Given the description of an element on the screen output the (x, y) to click on. 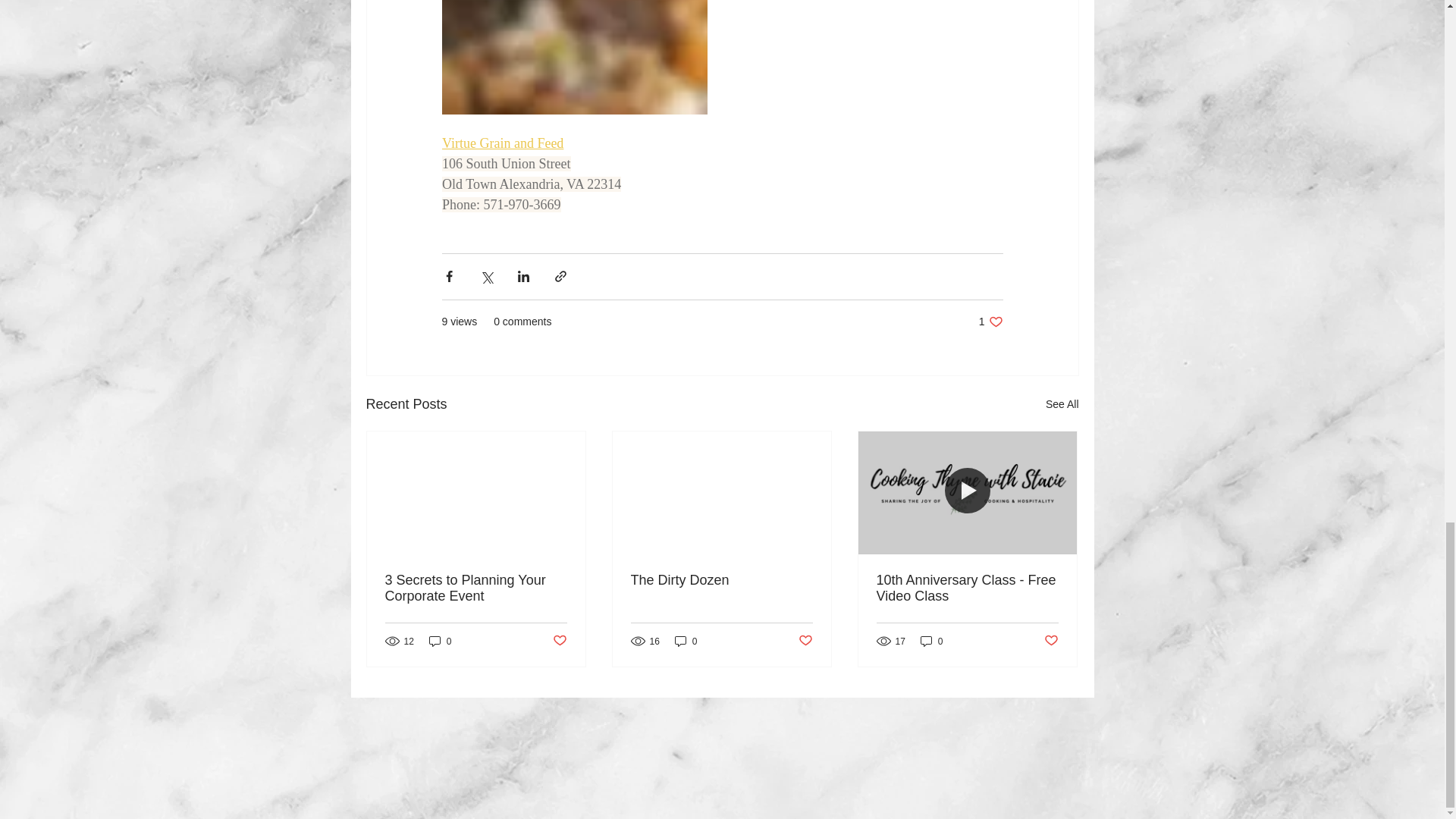
Virtue Grain and Feed (501, 142)
See All (990, 321)
